Given the description of an element on the screen output the (x, y) to click on. 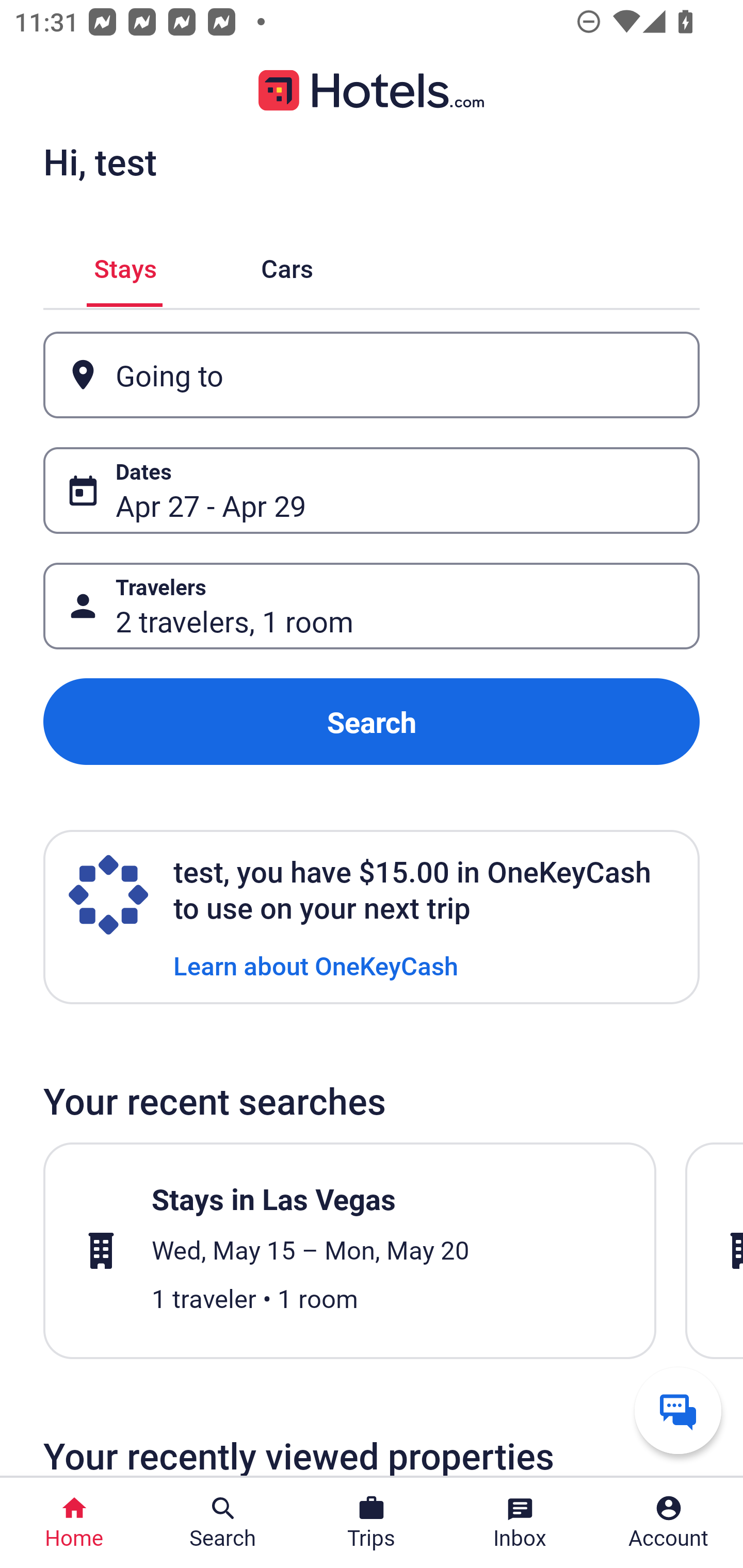
Hi, test (99, 161)
Cars (286, 265)
Going to Button (371, 375)
Dates Button Apr 27 - Apr 29 (371, 489)
Travelers Button 2 travelers, 1 room (371, 605)
Search (371, 721)
Learn about OneKeyCash Learn about OneKeyCash Link (315, 964)
Get help from a virtual agent (677, 1410)
Search Search Button (222, 1522)
Trips Trips Button (371, 1522)
Inbox Inbox Button (519, 1522)
Account Profile. Button (668, 1522)
